Given the description of an element on the screen output the (x, y) to click on. 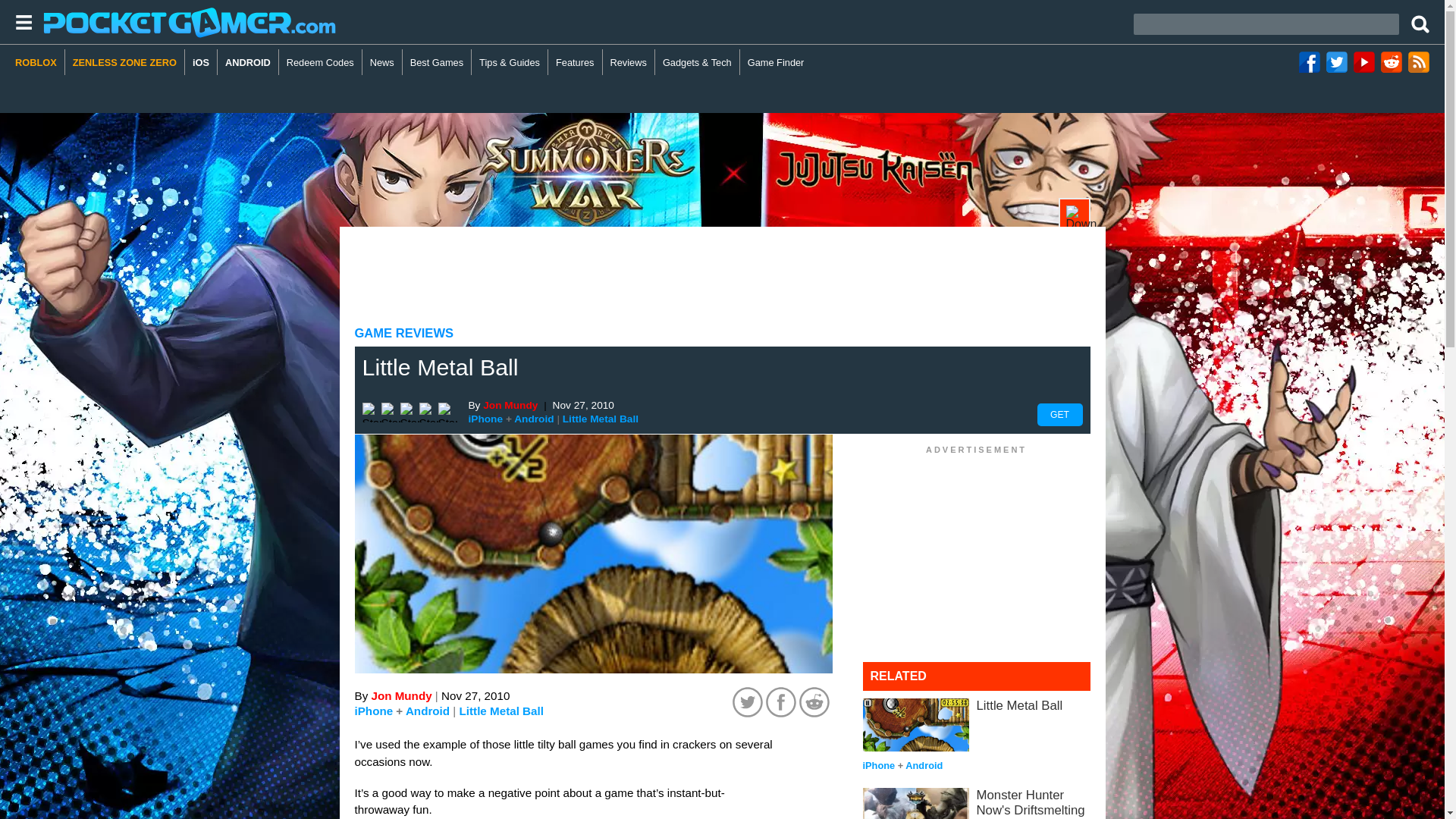
Android (427, 710)
Game Finder (775, 62)
GAME REVIEWS (404, 332)
Android (533, 419)
Features (575, 62)
Redeem Codes (320, 62)
Little Metal Ball (501, 711)
iPhone (485, 419)
ZENLESS ZONE ZERO (124, 62)
Reviews (628, 62)
